Given the description of an element on the screen output the (x, y) to click on. 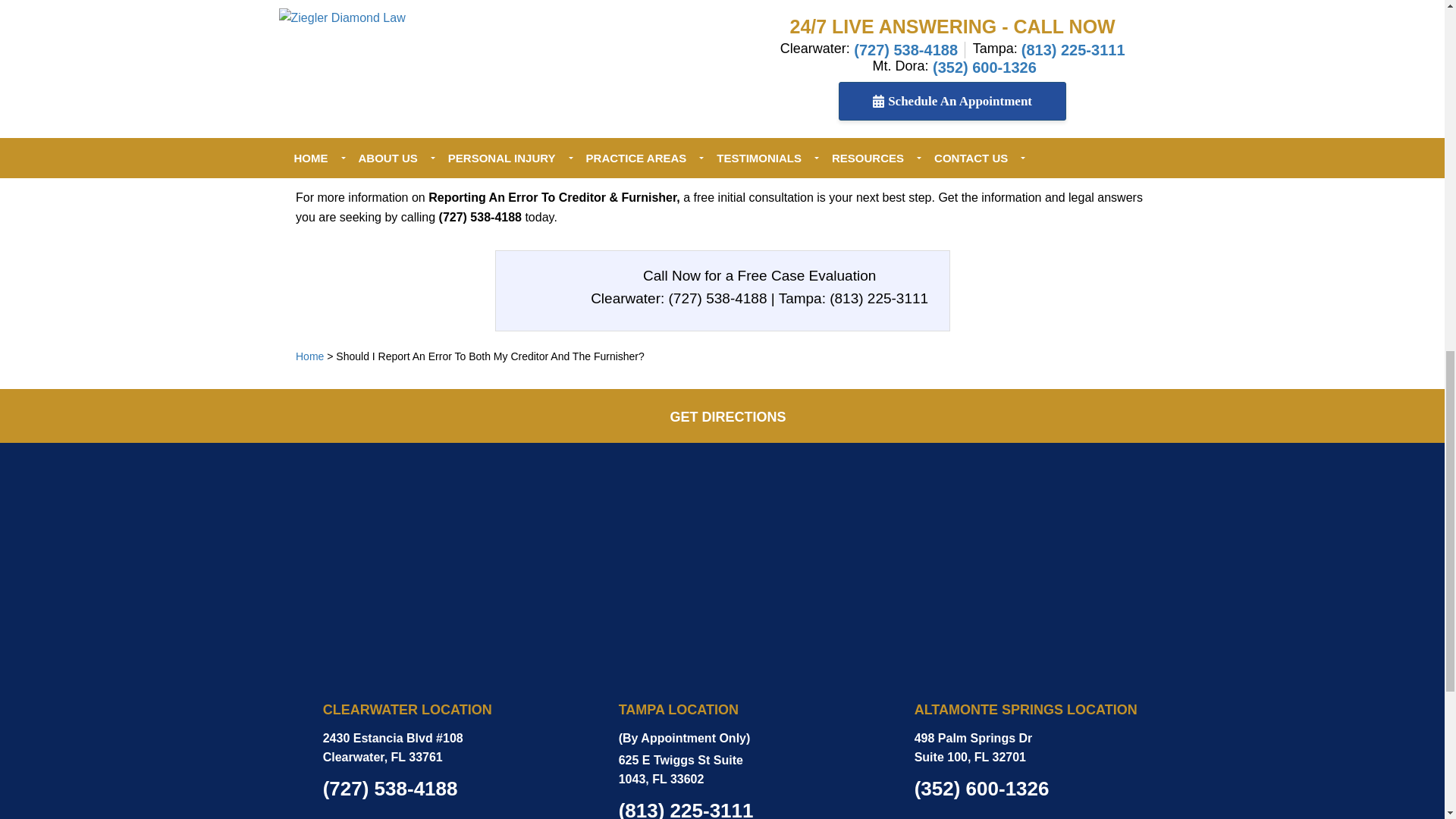
Go to Debt Fighters. (309, 356)
